Given the description of an element on the screen output the (x, y) to click on. 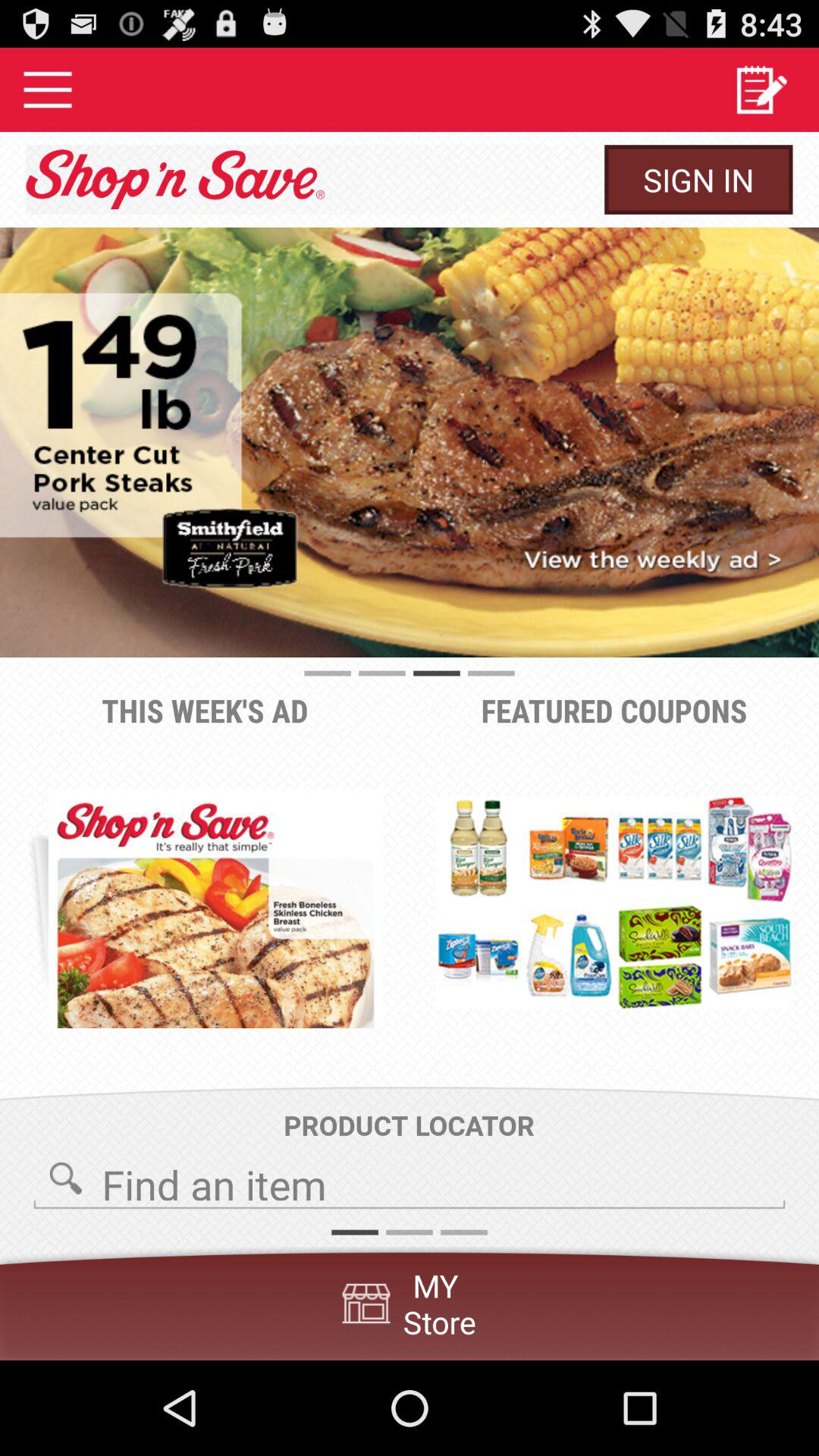
open the item below the this week s (215, 908)
